Given the description of an element on the screen output the (x, y) to click on. 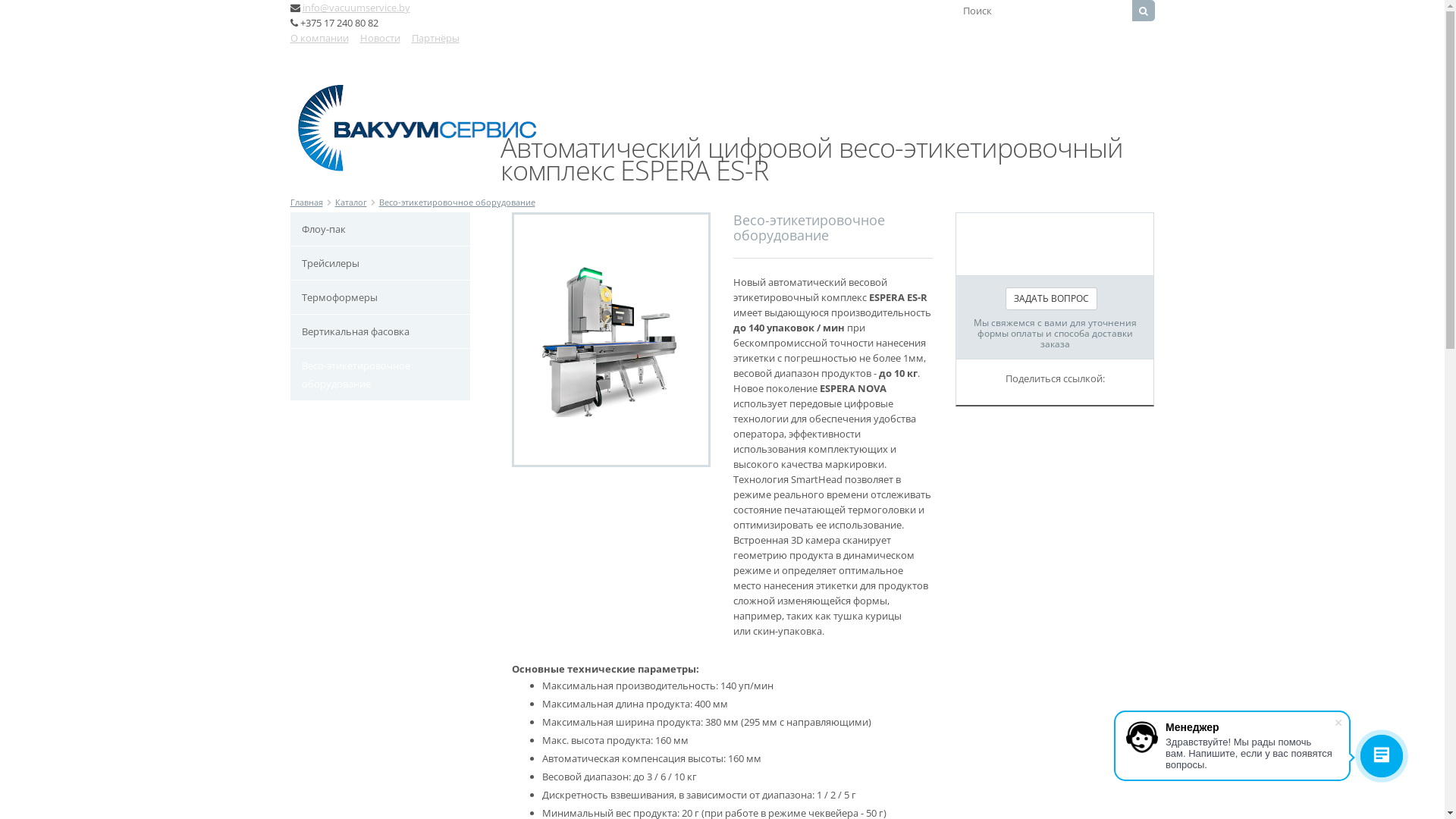
info@vacuumservice.by Element type: text (355, 7)
